Given the description of an element on the screen output the (x, y) to click on. 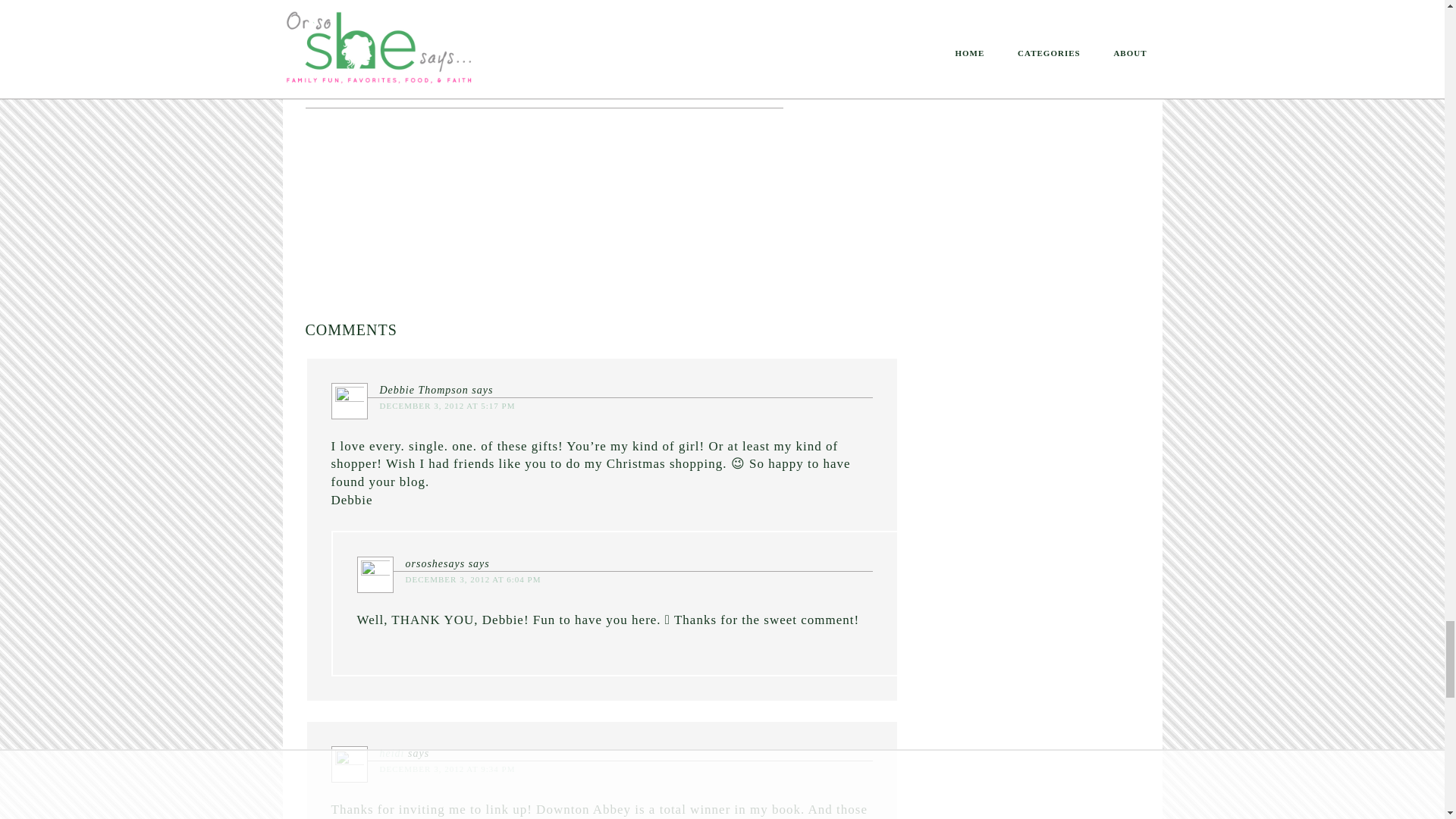
Save to Pinterest (355, 11)
Send over email (628, 11)
Share on Facebook (456, 11)
Share on X (549, 11)
